Given the description of an element on the screen output the (x, y) to click on. 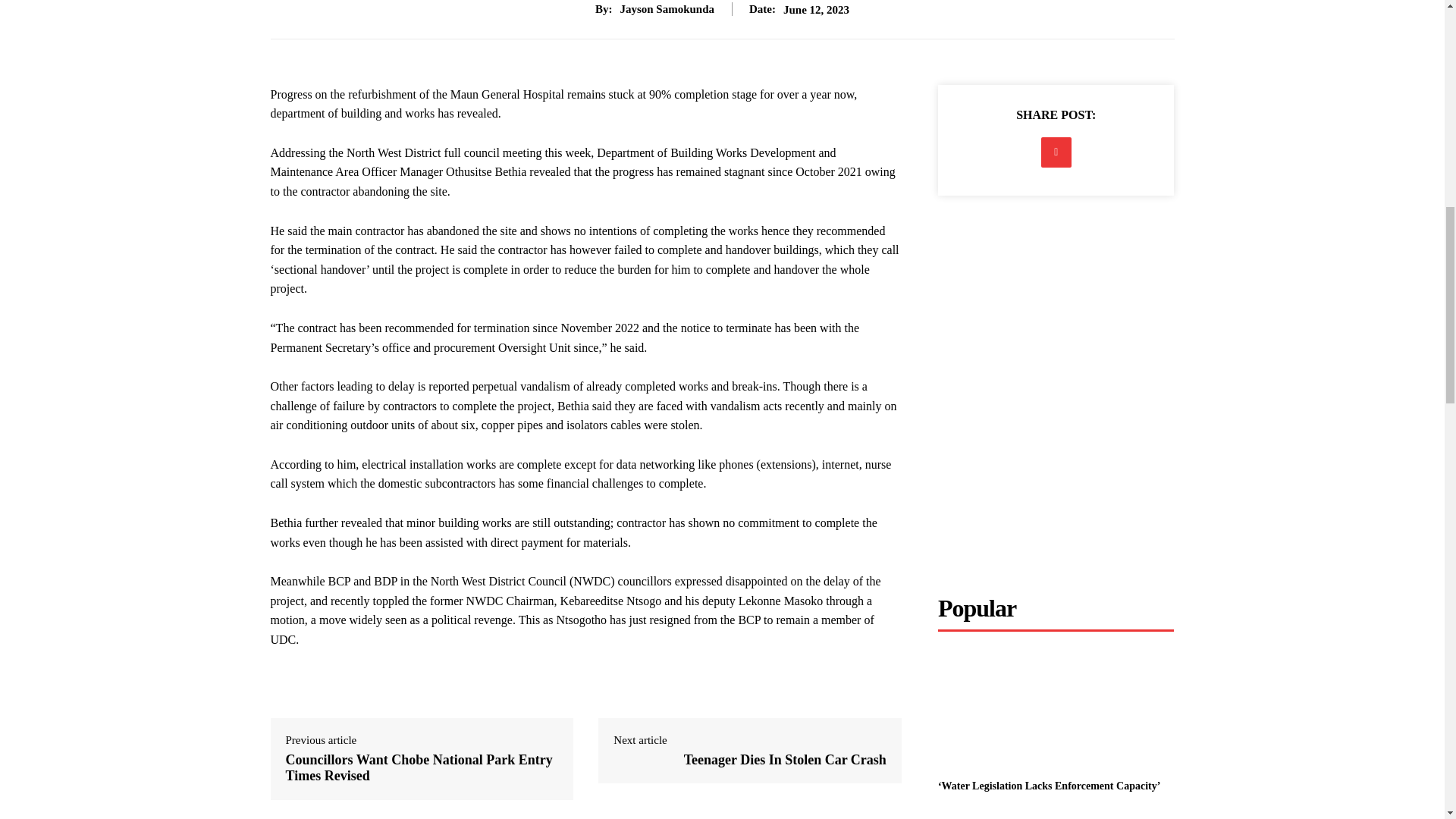
Jayson Samokunda (667, 8)
Councillors Want Chobe National Park Entry Times Revised (418, 767)
Facebook (1056, 152)
Teenager Dies In Stolen Car Crash (785, 759)
